Given the description of an element on the screen output the (x, y) to click on. 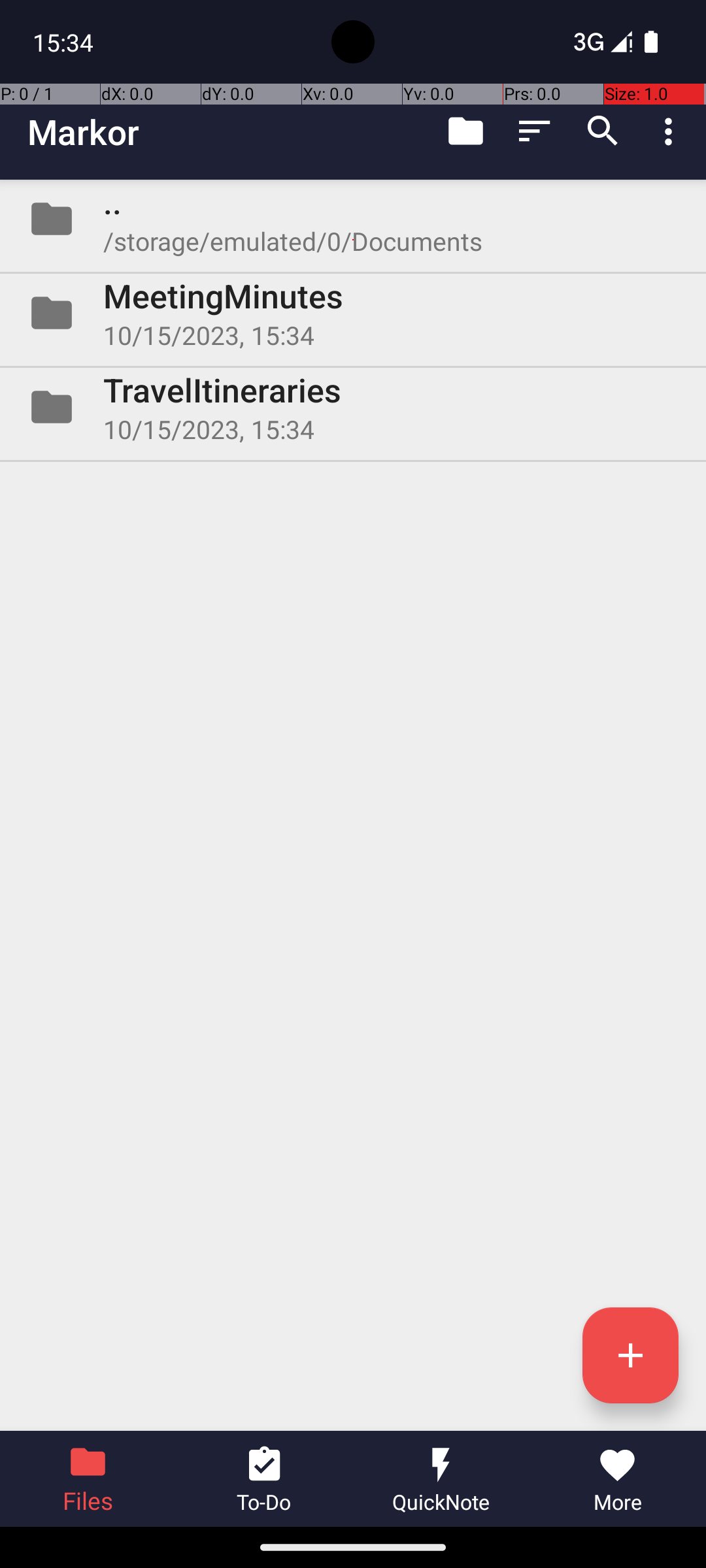
Folder MeetingMinutes  Element type: android.widget.LinearLayout (353, 312)
Folder TravelItineraries  Element type: android.widget.LinearLayout (353, 406)
